Given the description of an element on the screen output the (x, y) to click on. 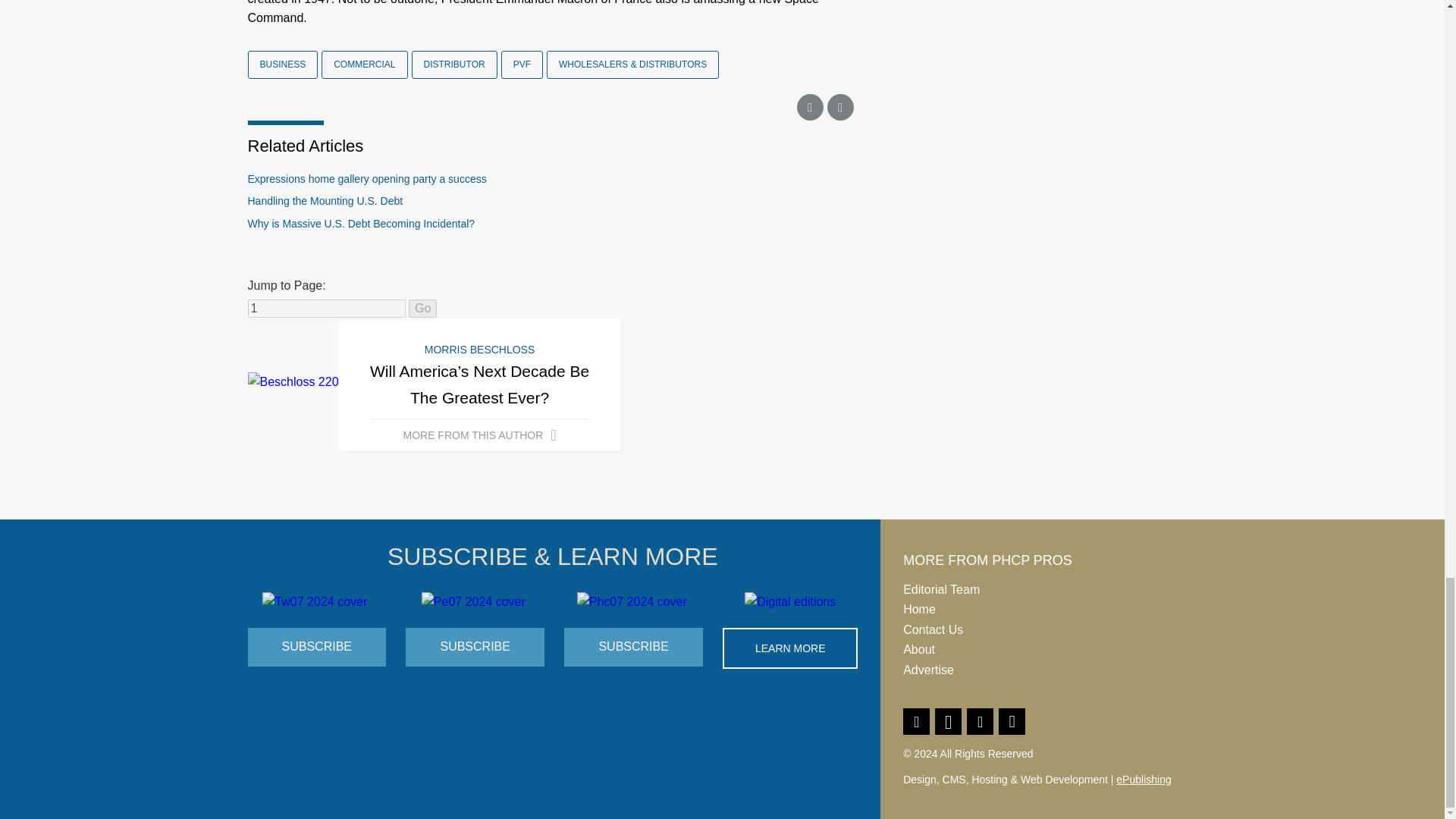
1 (325, 308)
Go (422, 308)
